Given the description of an element on the screen output the (x, y) to click on. 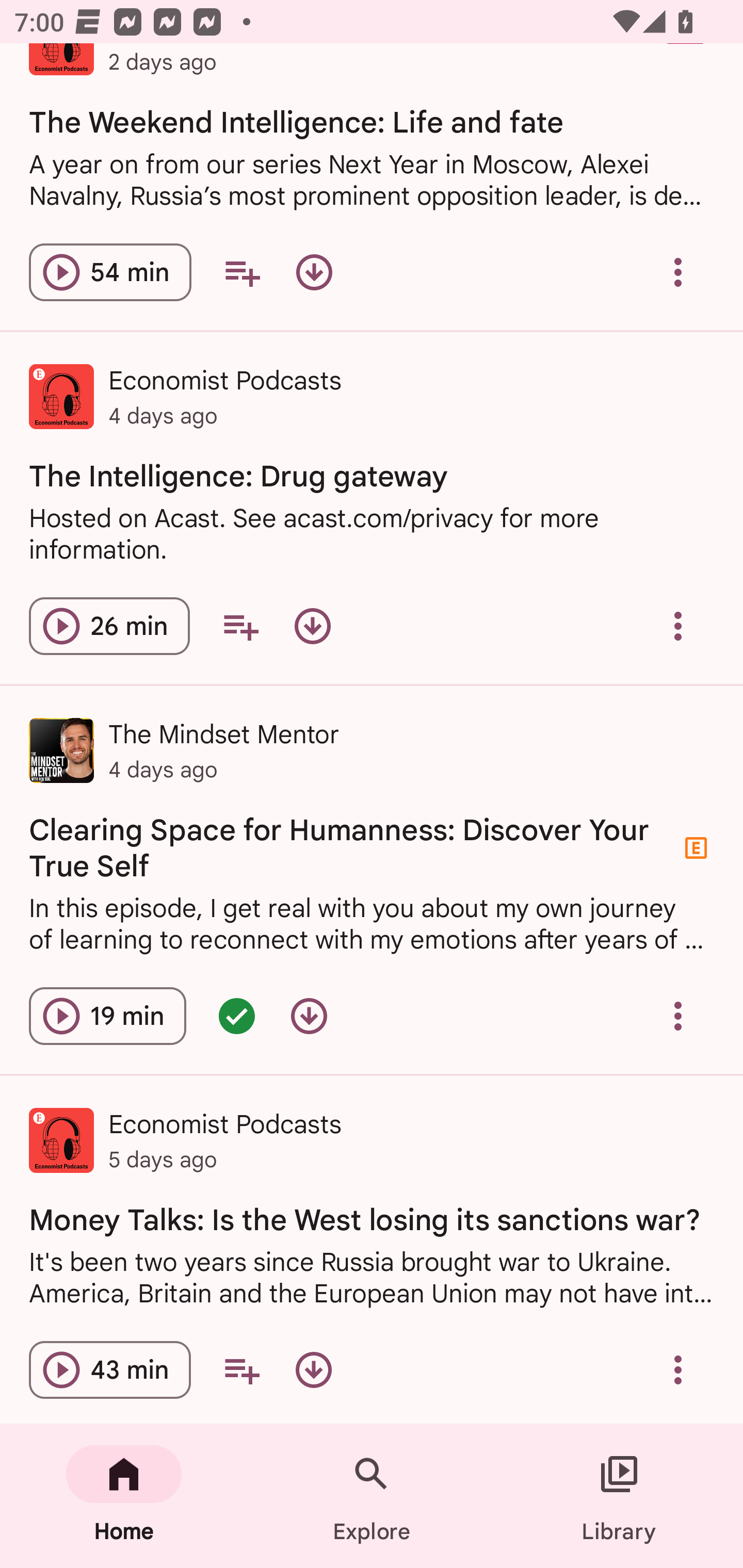
Add to your queue (241, 271)
Download episode (313, 271)
Overflow menu (677, 271)
Play episode The Intelligence: Drug gateway 26 min (109, 626)
Add to your queue (240, 626)
Download episode (312, 626)
Overflow menu (677, 626)
Episode queued - double tap for options (236, 1015)
Download episode (308, 1015)
Overflow menu (677, 1015)
Add to your queue (241, 1369)
Download episode (313, 1369)
Overflow menu (677, 1369)
Explore (371, 1495)
Library (619, 1495)
